Given the description of an element on the screen output the (x, y) to click on. 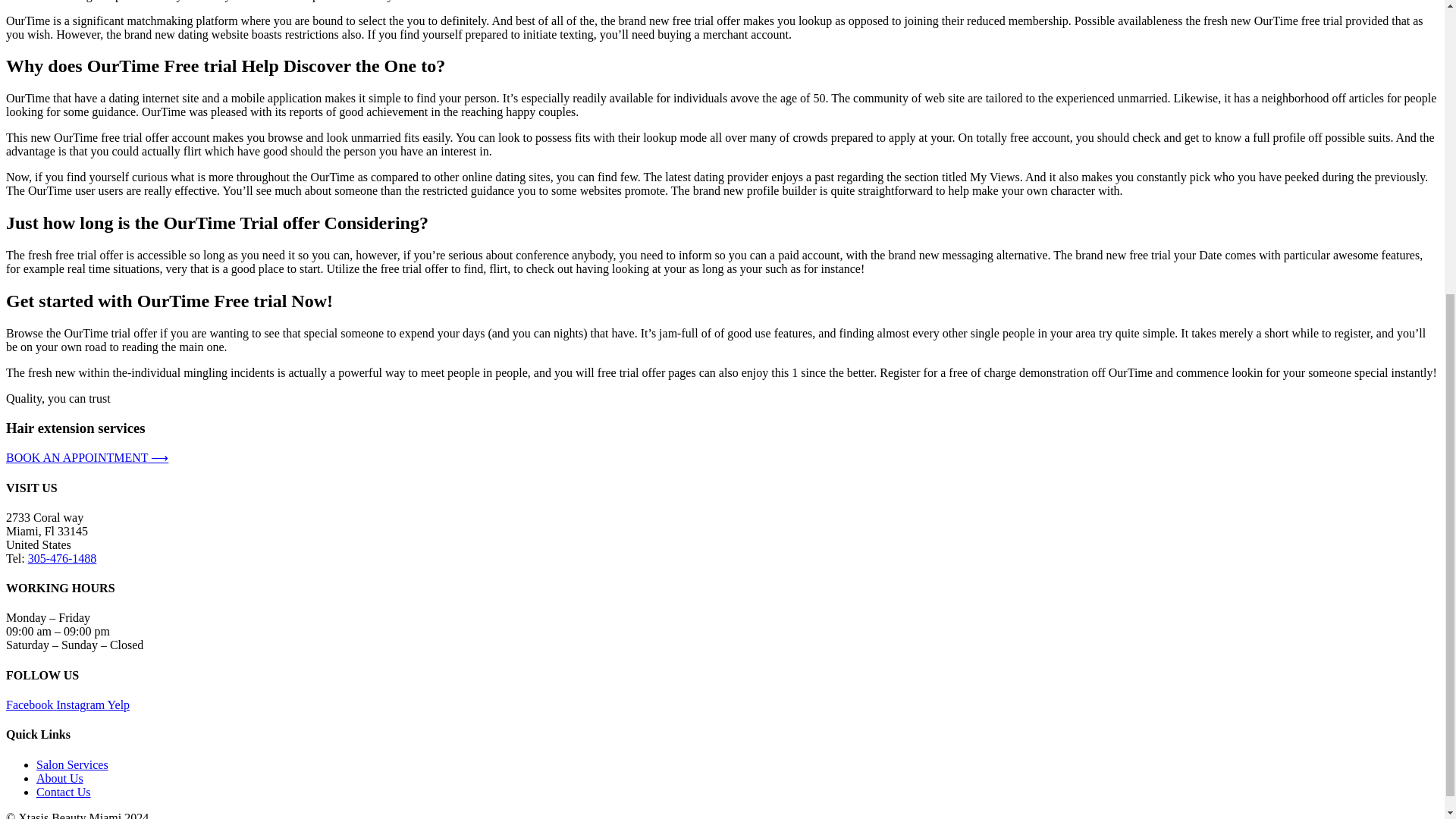
About Us (59, 778)
Salon Services (71, 764)
Instagram (81, 704)
Yelp (119, 704)
Contact Us (63, 791)
Facebook (30, 704)
305-476-1488 (62, 558)
